Given the description of an element on the screen output the (x, y) to click on. 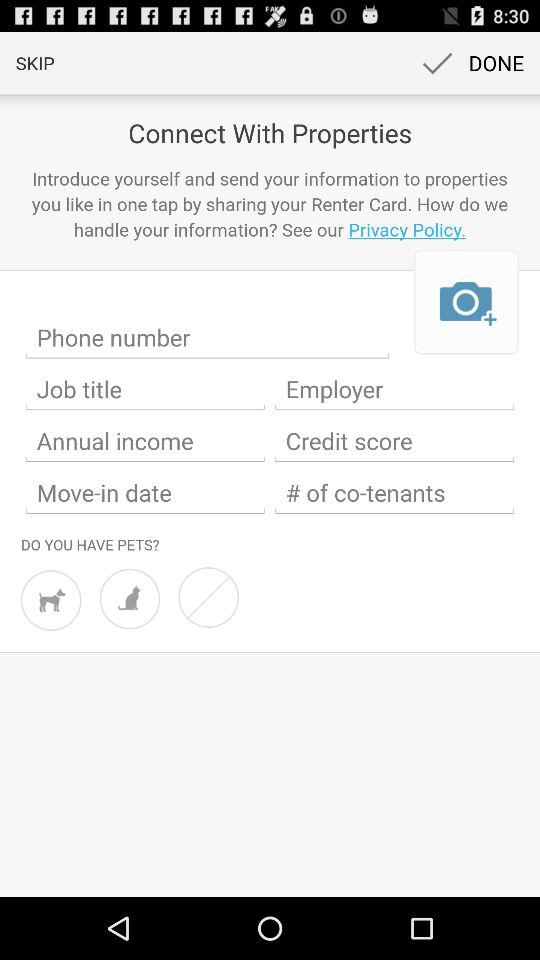
enter job title (145, 389)
